Given the description of an element on the screen output the (x, y) to click on. 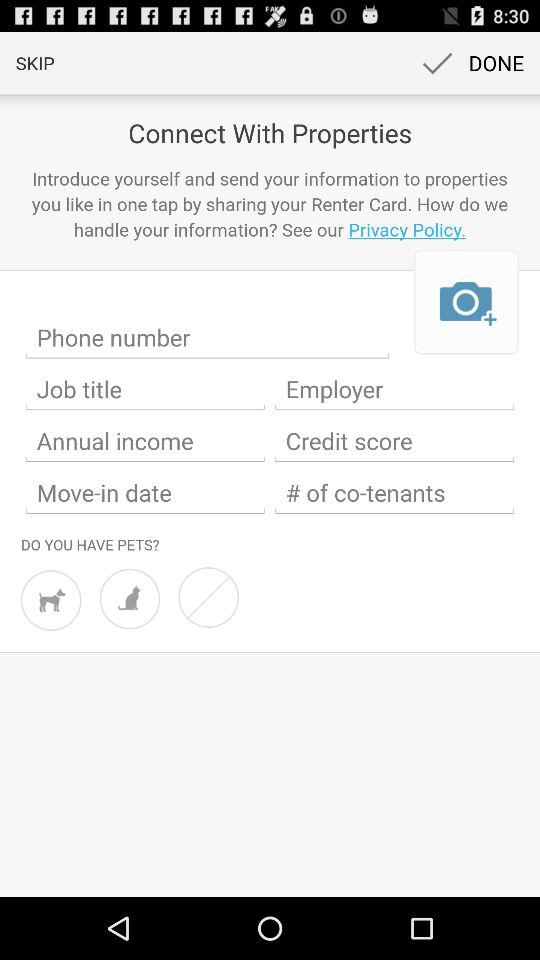
enter job title (145, 389)
